Given the description of an element on the screen output the (x, y) to click on. 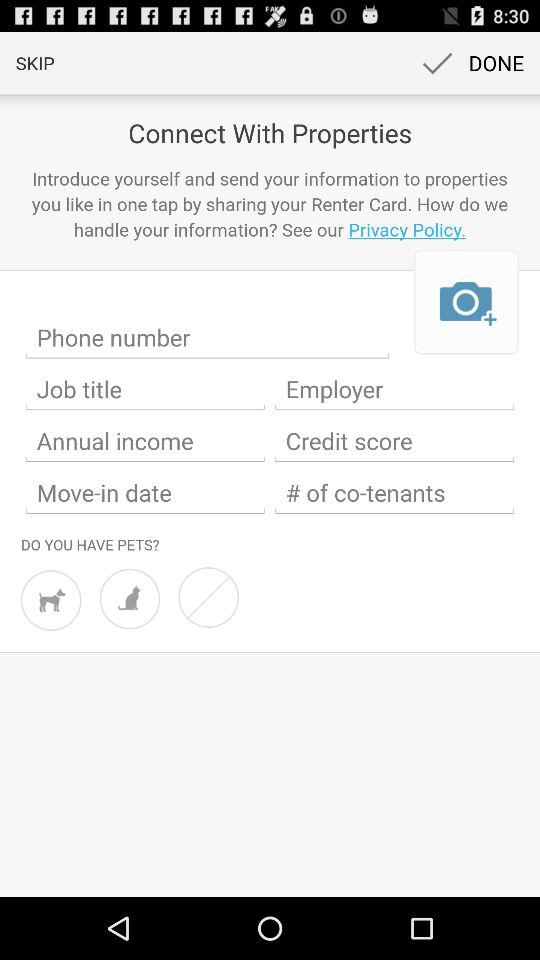
enter job title (145, 389)
